Given the description of an element on the screen output the (x, y) to click on. 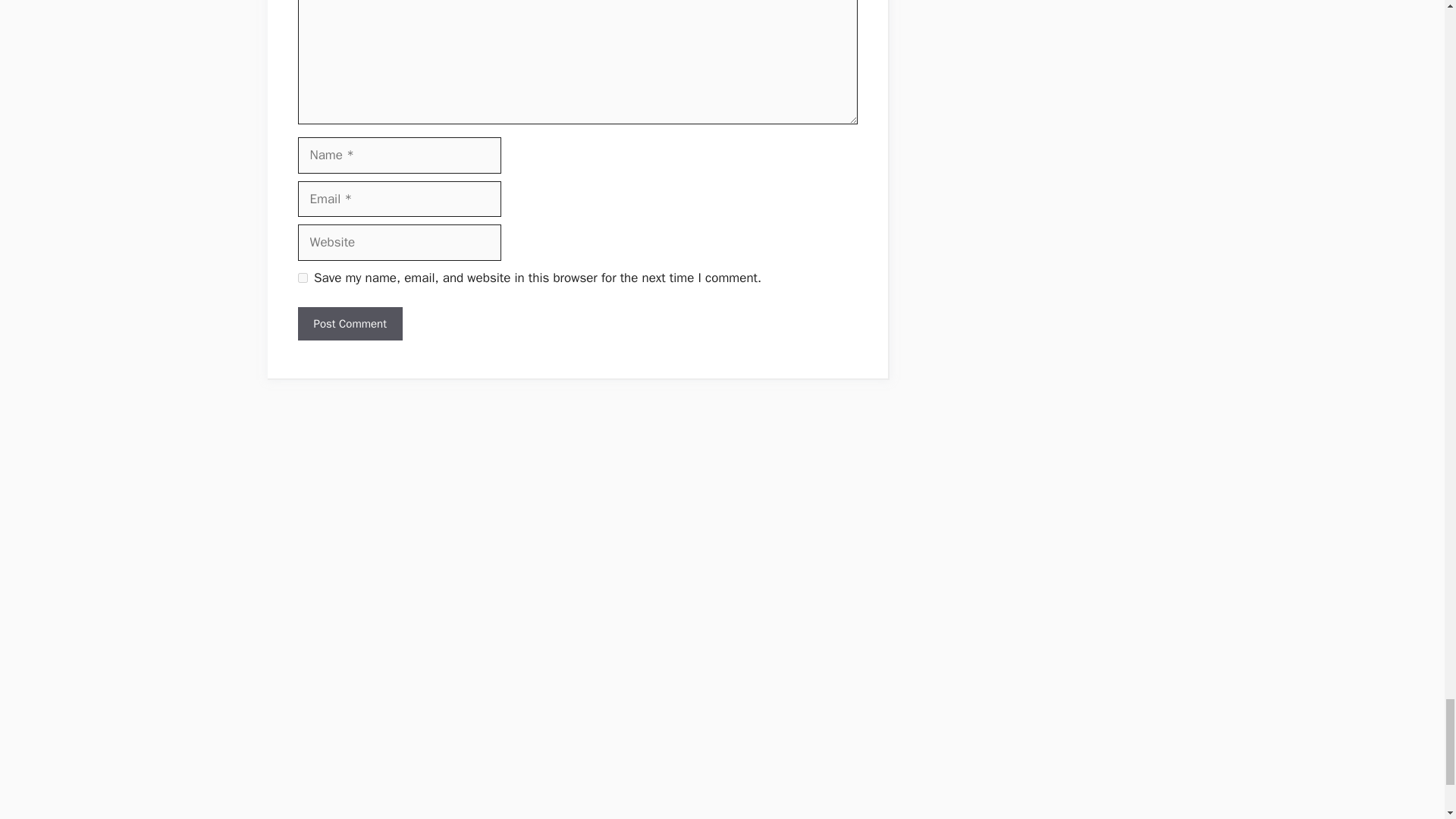
Post Comment (349, 324)
Post Comment (349, 324)
yes (302, 277)
